Given the description of an element on the screen output the (x, y) to click on. 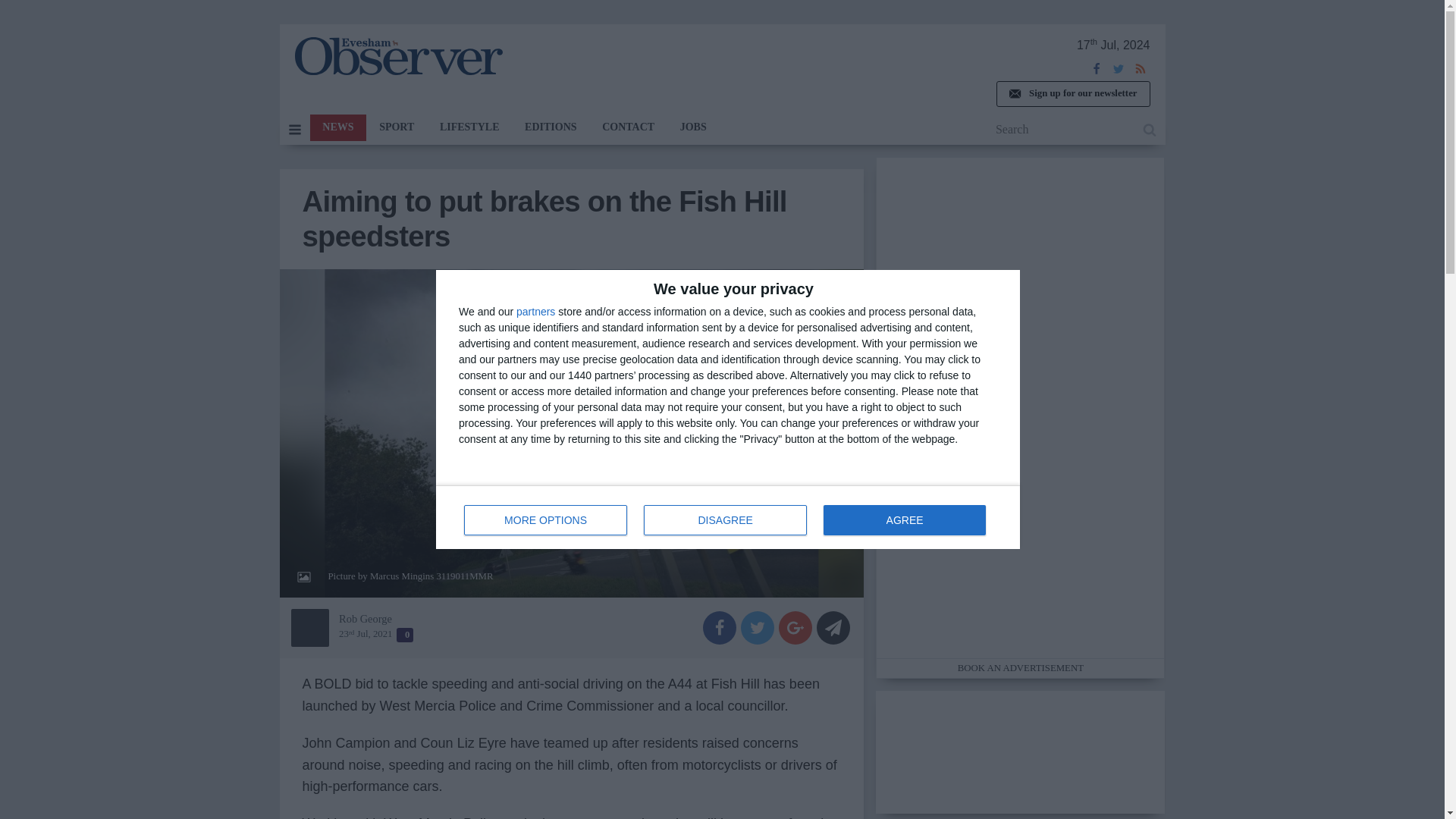
NEWS (337, 127)
The Evesham Observer (398, 55)
AGREE (904, 520)
partners (535, 311)
EDITIONS (550, 127)
  Sign up for our newsletter (1072, 94)
CONTACT (627, 127)
DISAGREE (724, 520)
MORE OPTIONS (545, 520)
SPORT (727, 516)
JOBS (396, 127)
LIFESTYLE (692, 127)
